Given the description of an element on the screen output the (x, y) to click on. 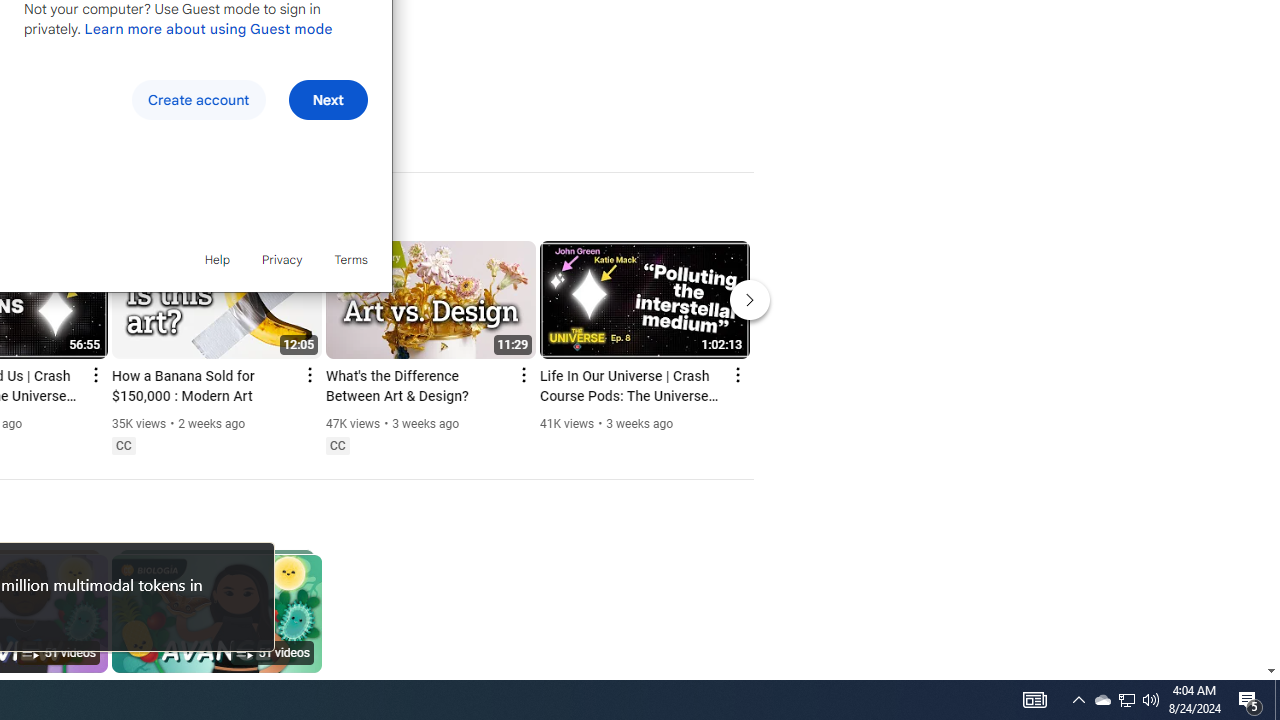
Learn more about using Guest mode (208, 28)
Help (216, 259)
Privacy (281, 259)
Show desktop (1277, 699)
Q2790: 100% (1151, 699)
Create account (198, 99)
Notification Chevron (1078, 699)
Closed captions (1126, 699)
Action menu (337, 446)
